Given the description of an element on the screen output the (x, y) to click on. 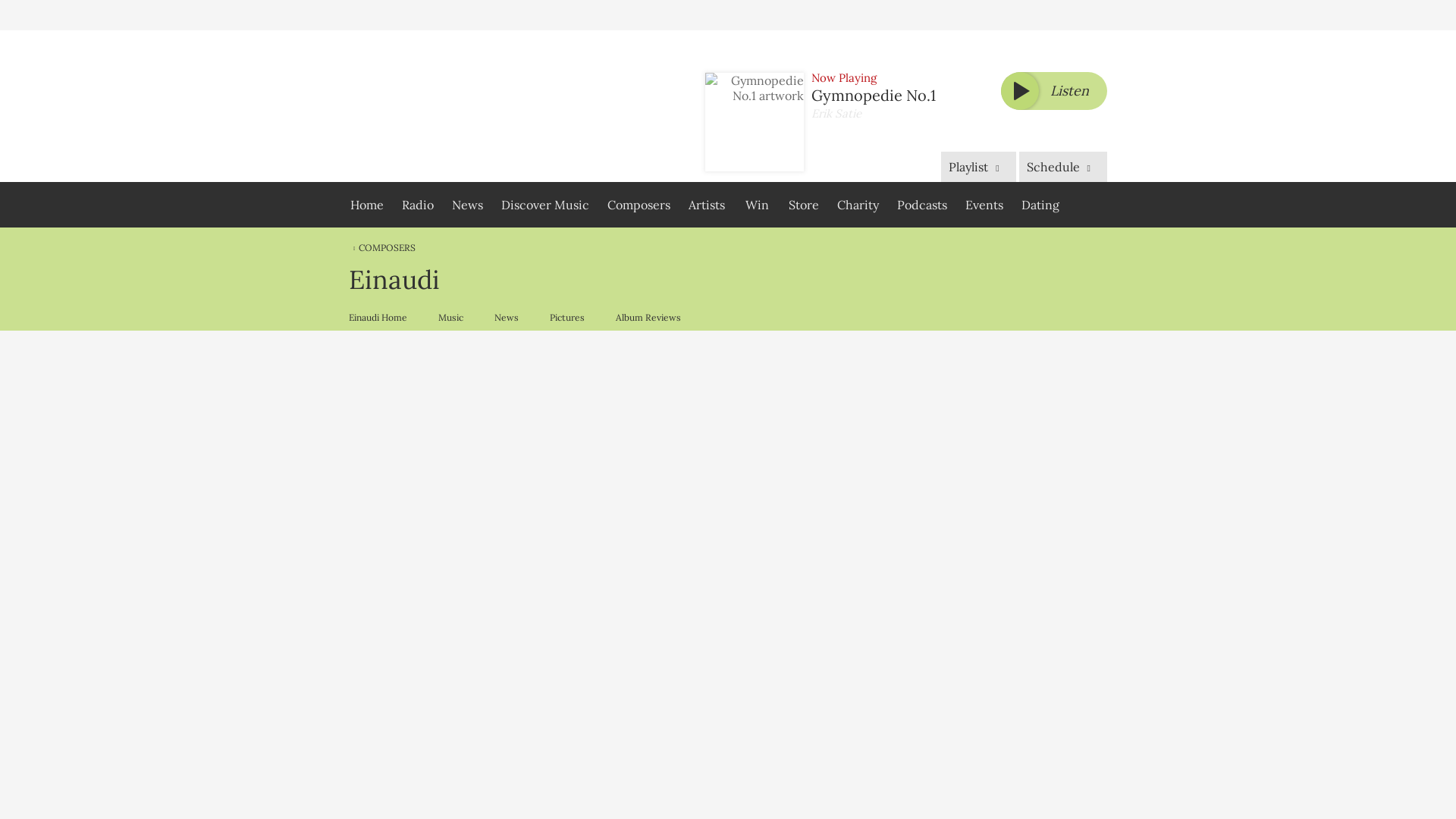
Charity (858, 204)
Composers (638, 204)
Win (755, 204)
Schedule (1062, 166)
Discover Music (545, 204)
Dating (1039, 204)
Classic FM (442, 106)
News (467, 204)
Store (803, 204)
Music (450, 317)
